Given the description of an element on the screen output the (x, y) to click on. 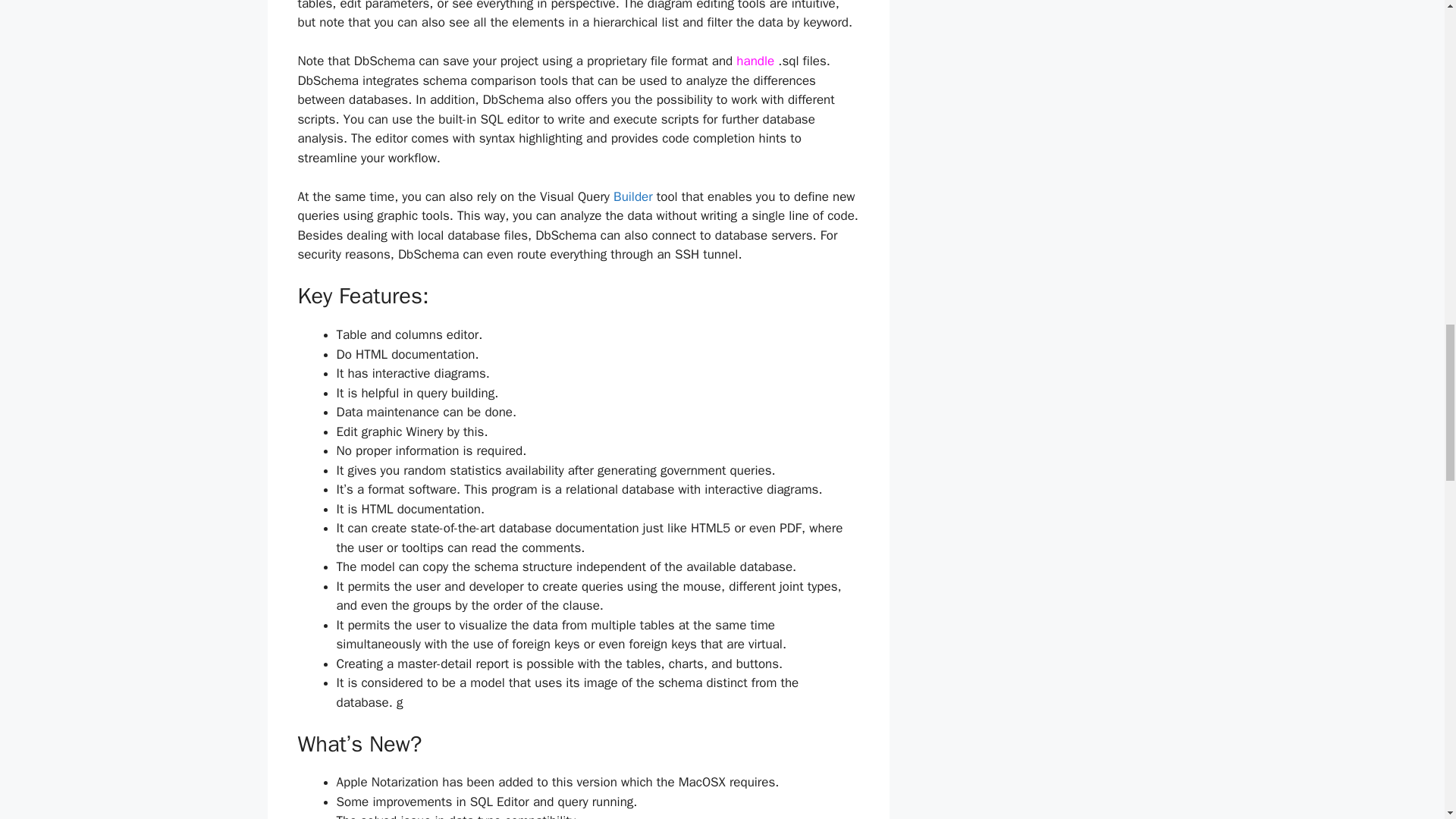
Builder (632, 196)
handle (755, 60)
